Given the description of an element on the screen output the (x, y) to click on. 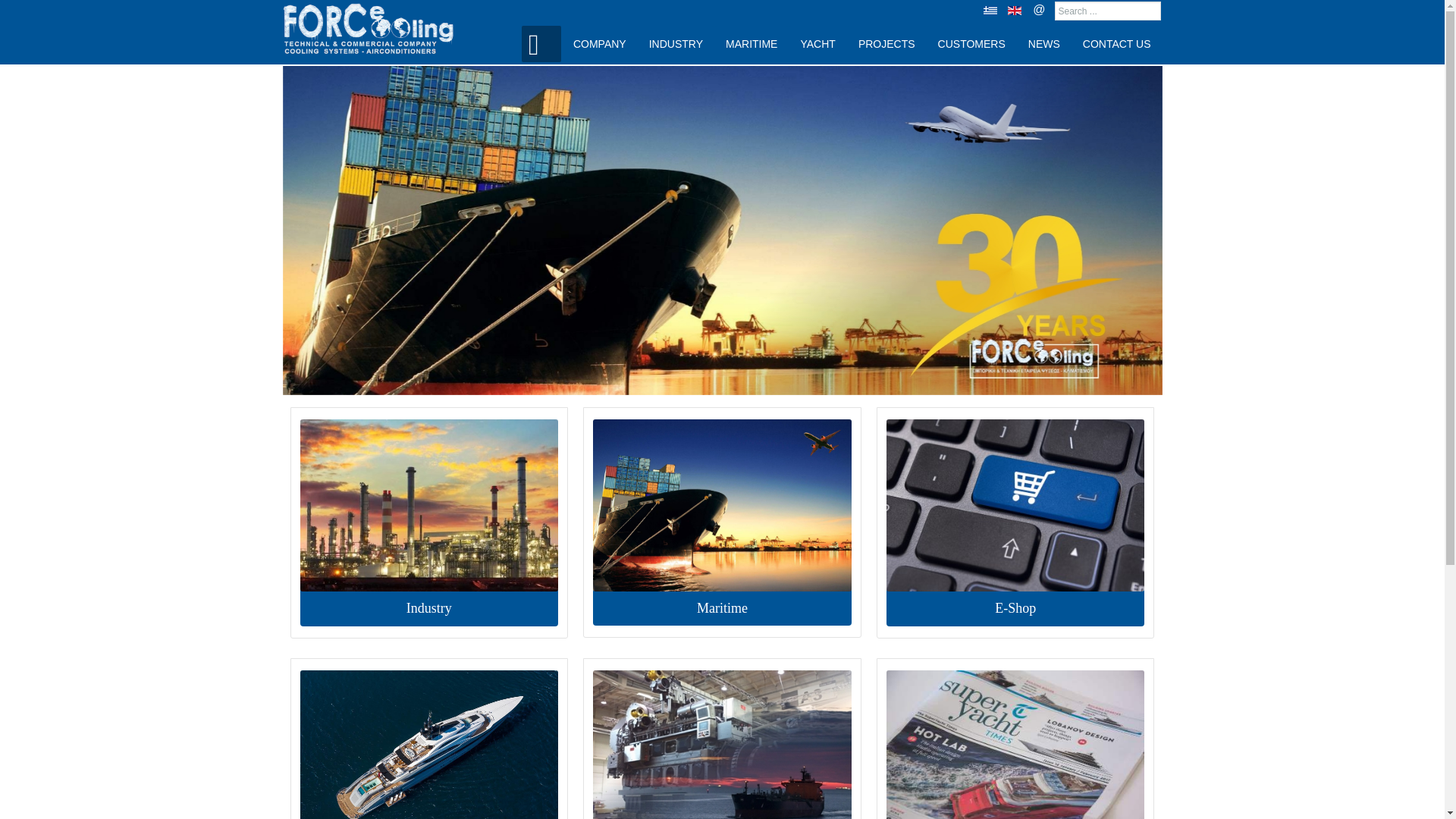
Alutec (379, 20)
